Given the description of an element on the screen output the (x, y) to click on. 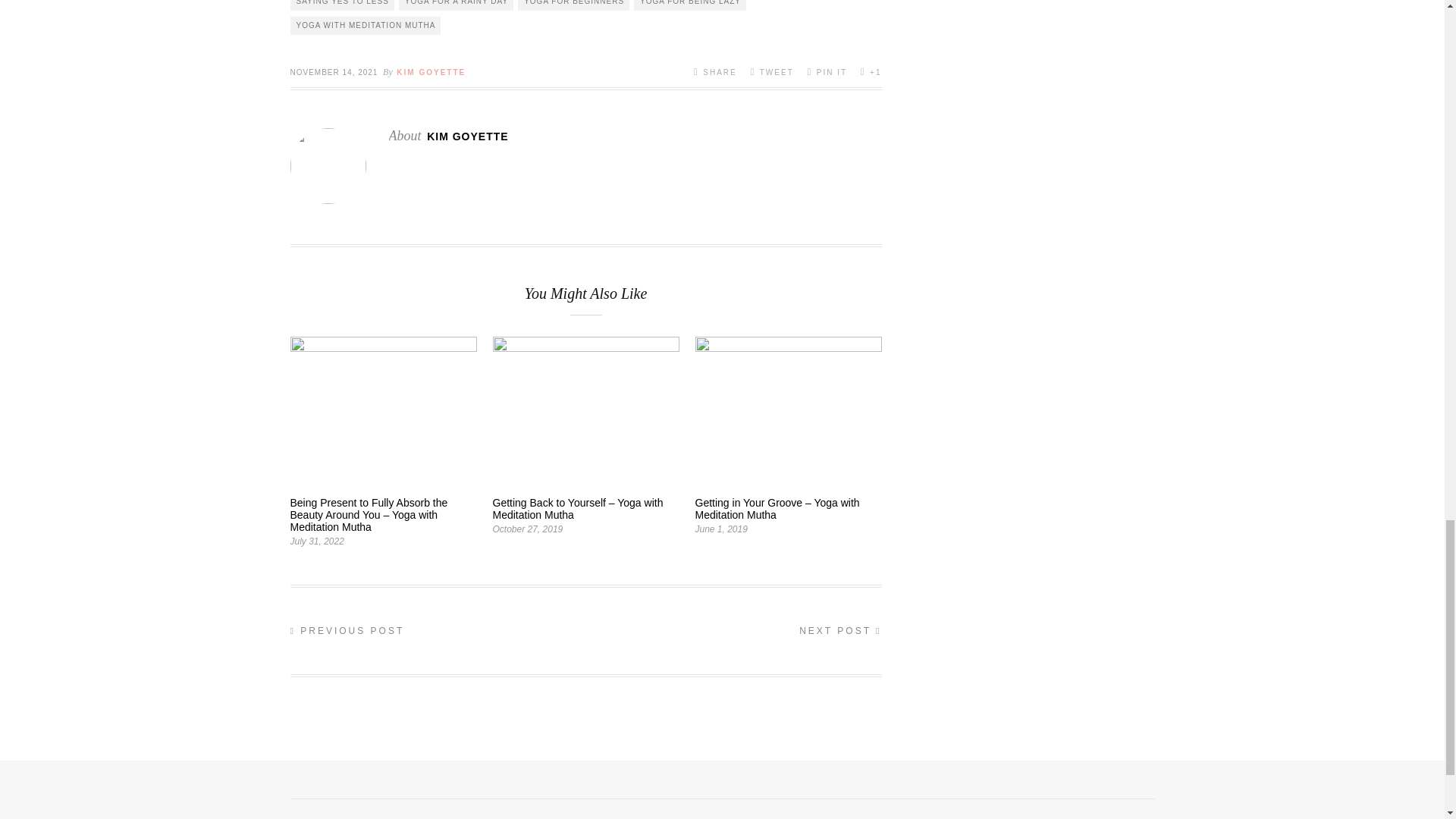
Posts by Kim Goyette (430, 71)
YOGA FOR A RAINY DAY (455, 5)
TWEET (771, 70)
YOGA FOR BEING LAZY (689, 5)
SAYING YES TO LESS (341, 5)
KIM GOYETTE (430, 71)
PIN IT (826, 70)
Posts by Kim Goyette (467, 136)
PREVIOUS POST (346, 630)
YOGA WITH MEDITATION MUTHA (365, 25)
SHARE (715, 70)
NEXT POST (839, 630)
YOGA FOR BEGINNERS (573, 5)
KIM GOYETTE (467, 136)
